Given the description of an element on the screen output the (x, y) to click on. 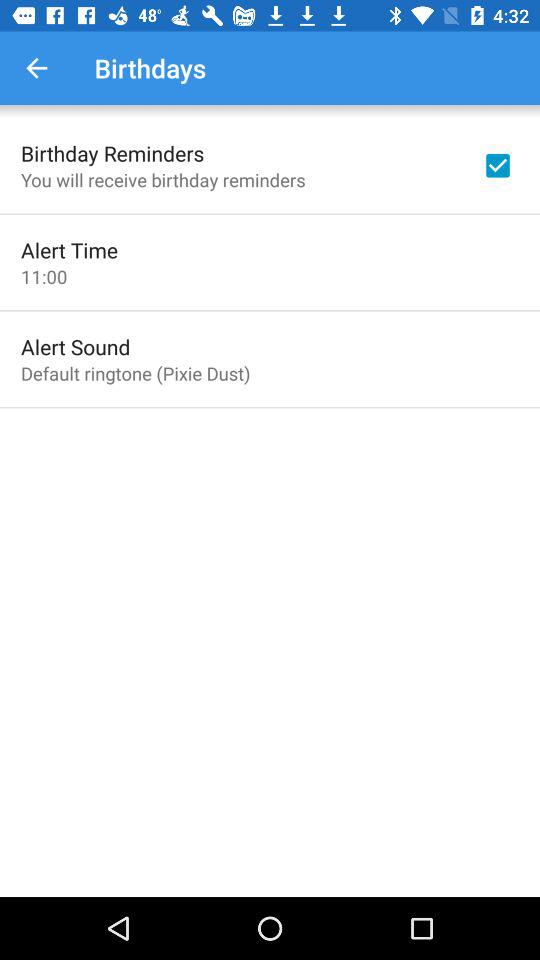
choose icon below the birthday reminders item (163, 179)
